Given the description of an element on the screen output the (x, y) to click on. 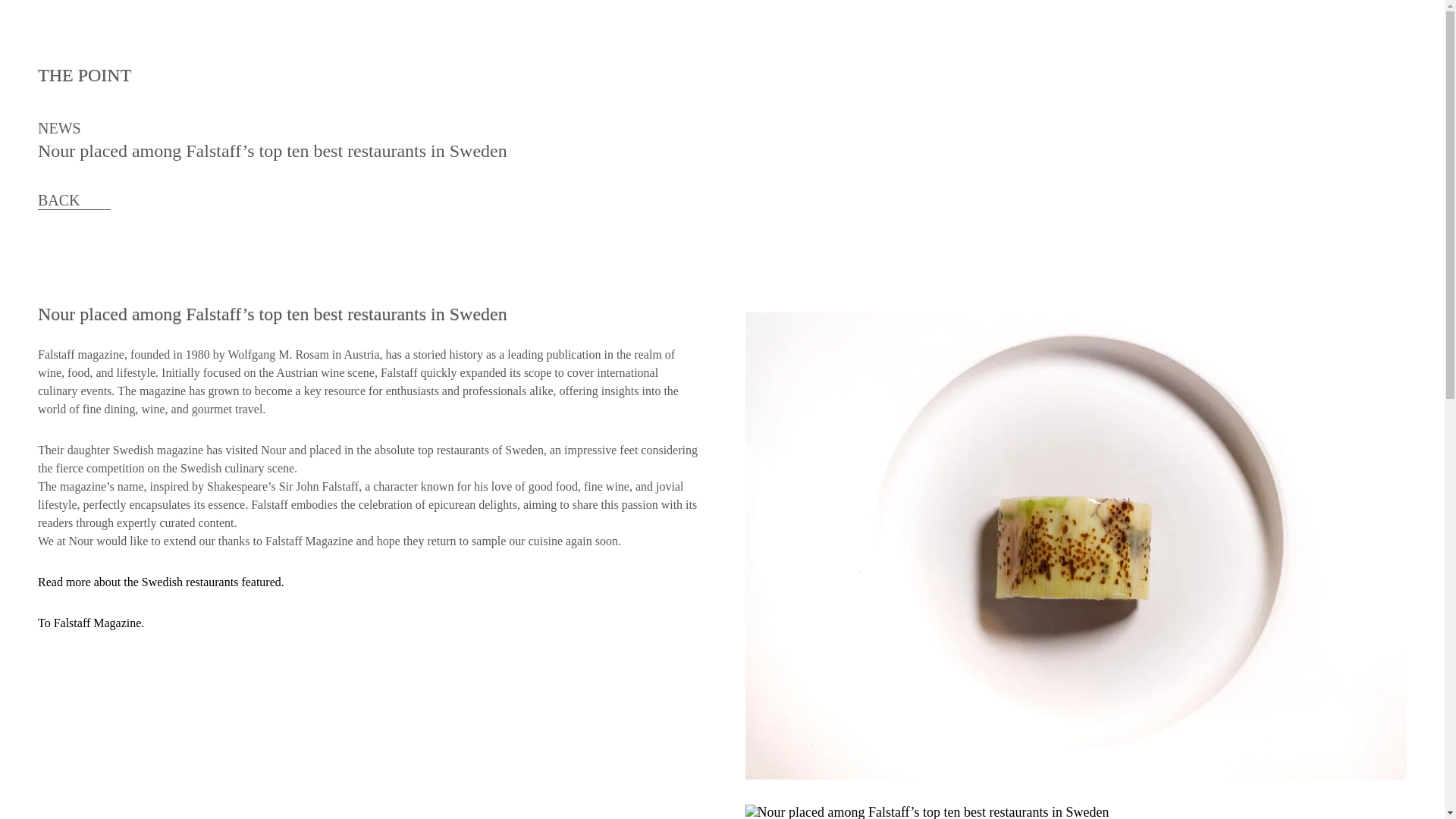
To Falstaff Magazine. (90, 622)
BACK (73, 200)
Read more about the Swedish restaurants featured. (160, 581)
